Given the description of an element on the screen output the (x, y) to click on. 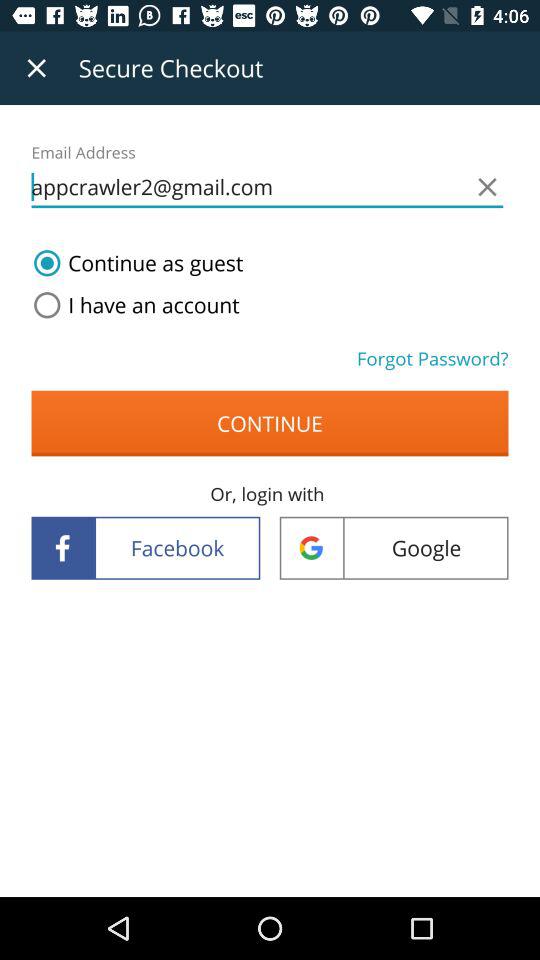
scroll to the i have an (132, 305)
